Given the description of an element on the screen output the (x, y) to click on. 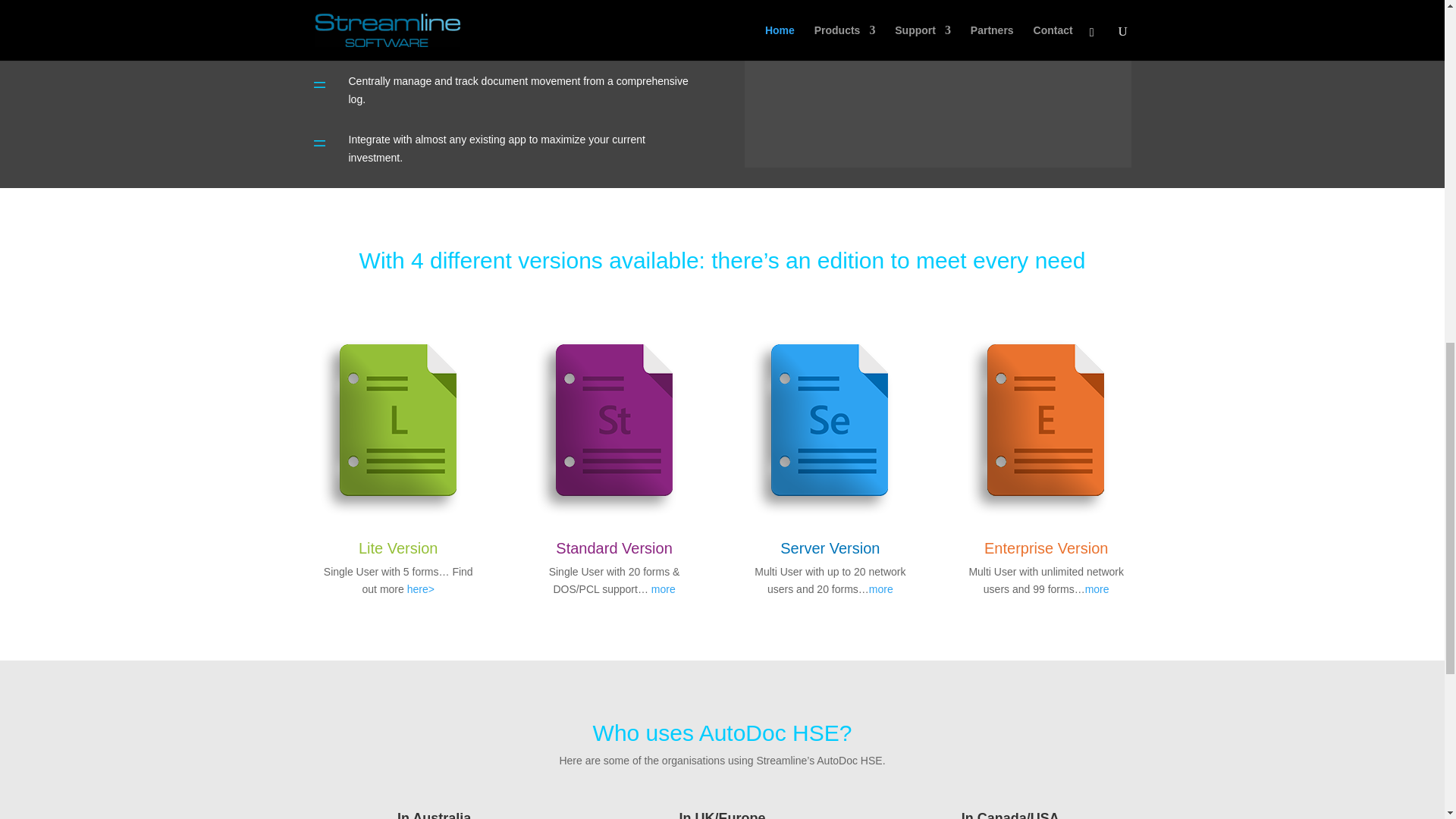
more (662, 589)
more (1096, 589)
more (881, 589)
